Given the description of an element on the screen output the (x, y) to click on. 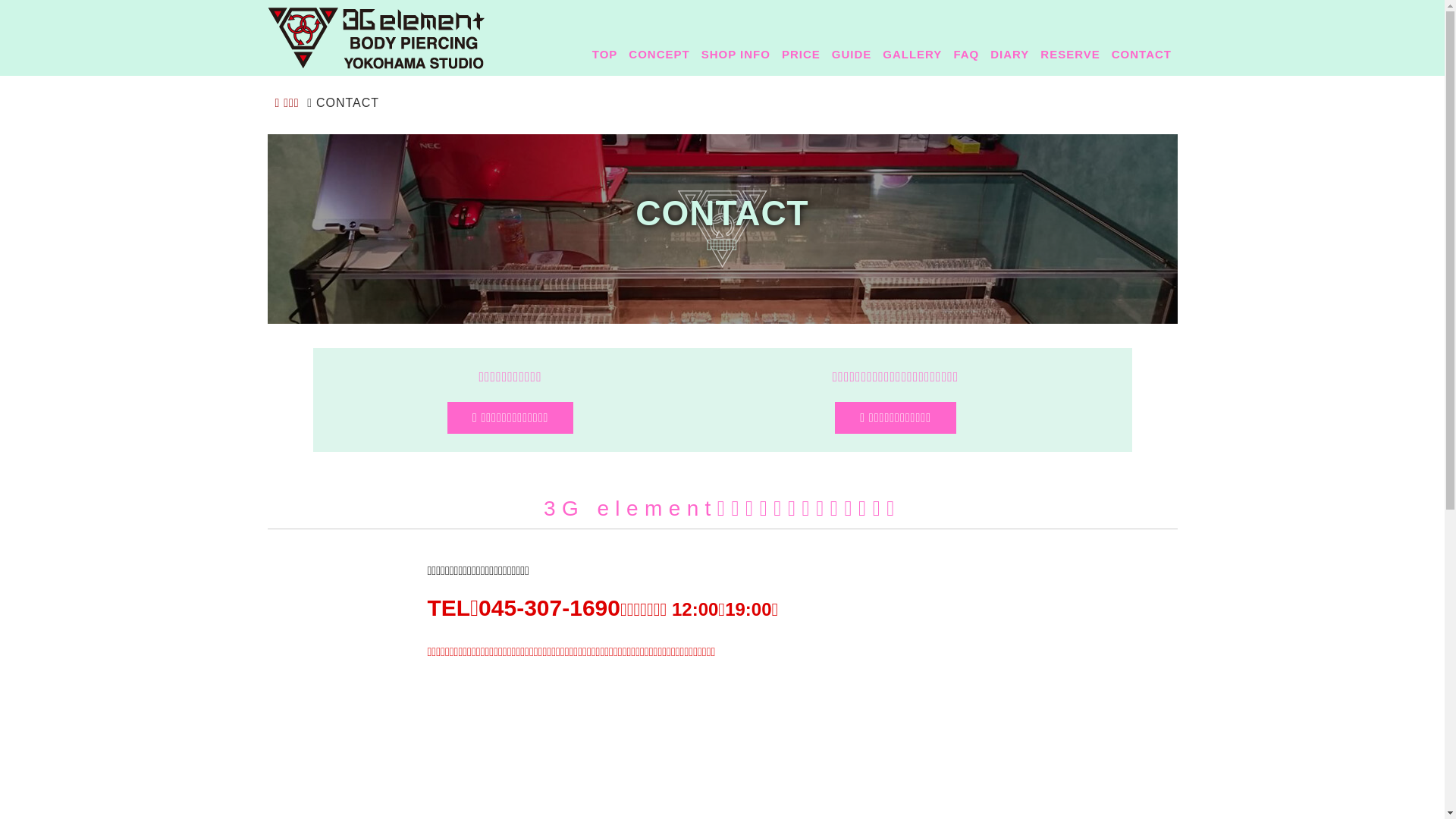
PRICE Element type: text (800, 53)
GUIDE Element type: text (851, 53)
FAQ Element type: text (966, 53)
DIARY Element type: text (1010, 53)
TOP Element type: text (604, 53)
RESERVE Element type: text (1070, 53)
GALLERY Element type: text (912, 53)
CONTACT Element type: text (1140, 53)
CONCEPT Element type: text (659, 53)
SHOP INFO Element type: text (735, 53)
